Given the description of an element on the screen output the (x, y) to click on. 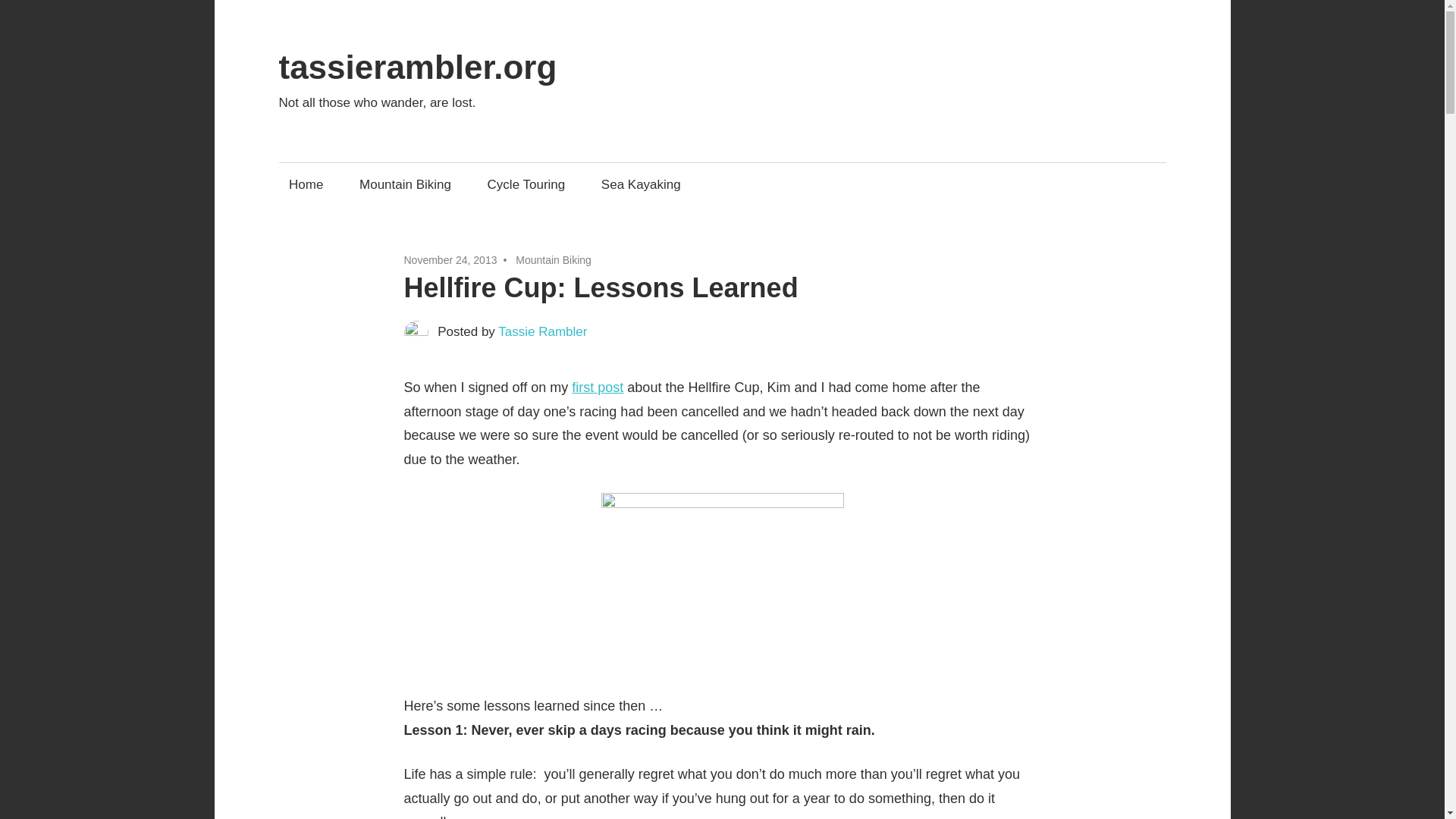
Sea Kayaking (640, 184)
Home (306, 184)
Cycle Touring (526, 184)
first post (597, 387)
Mountain Biking (405, 184)
View all posts by Tassie Rambler (541, 331)
November 24, 2013 (449, 259)
tassierambler.org (418, 66)
Mountain Biking (553, 259)
Tassie Rambler (541, 331)
9:41 am (449, 259)
